Given the description of an element on the screen output the (x, y) to click on. 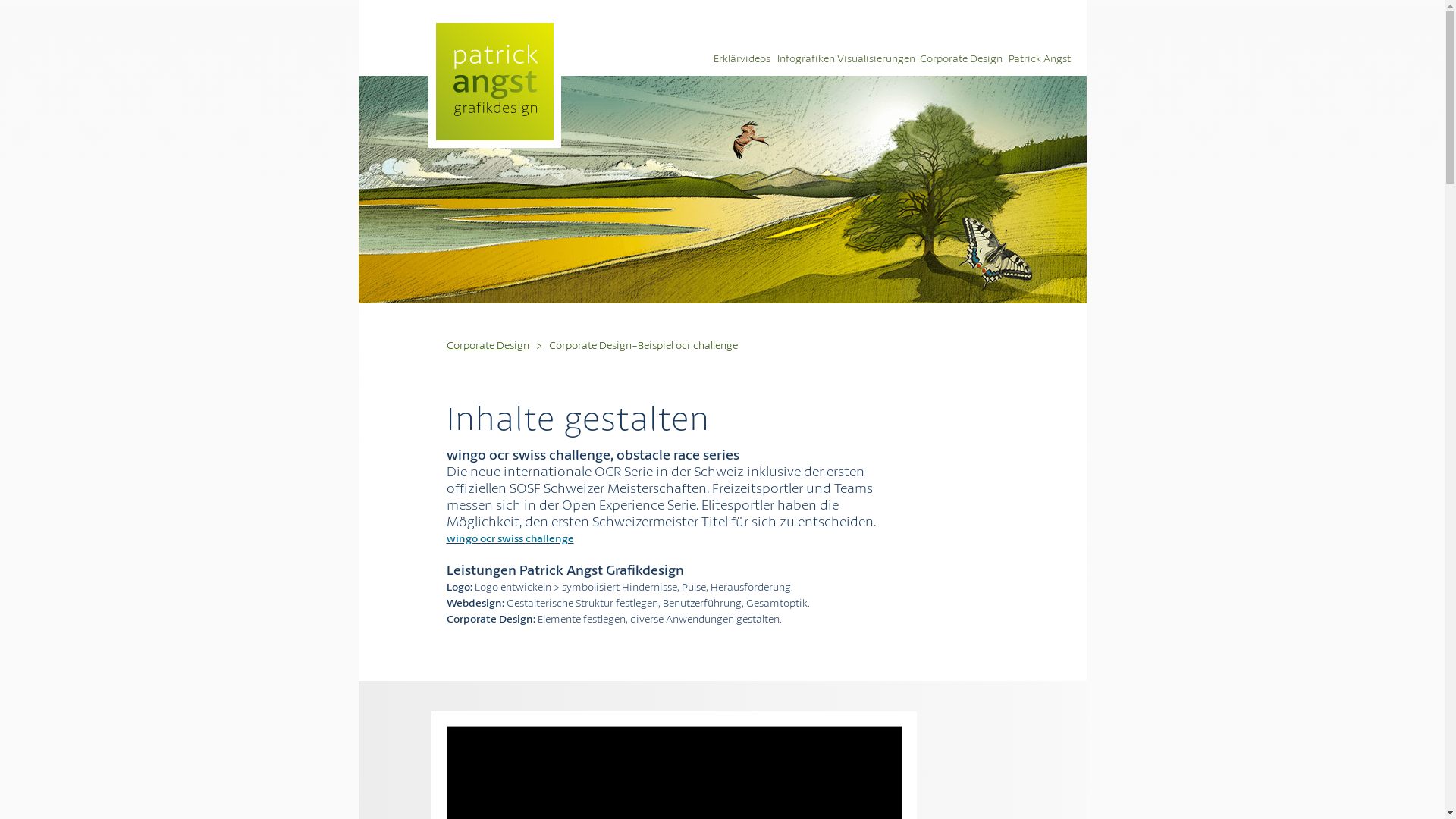
Visualisierungen Element type: text (877, 58)
Corporate Design Element type: text (487, 344)
wingo ocr swiss challenge Element type: text (509, 537)
Corporate Design Element type: text (962, 58)
Infografiken Element type: text (805, 58)
Patrick Angst Element type: text (1040, 58)
